Given the description of an element on the screen output the (x, y) to click on. 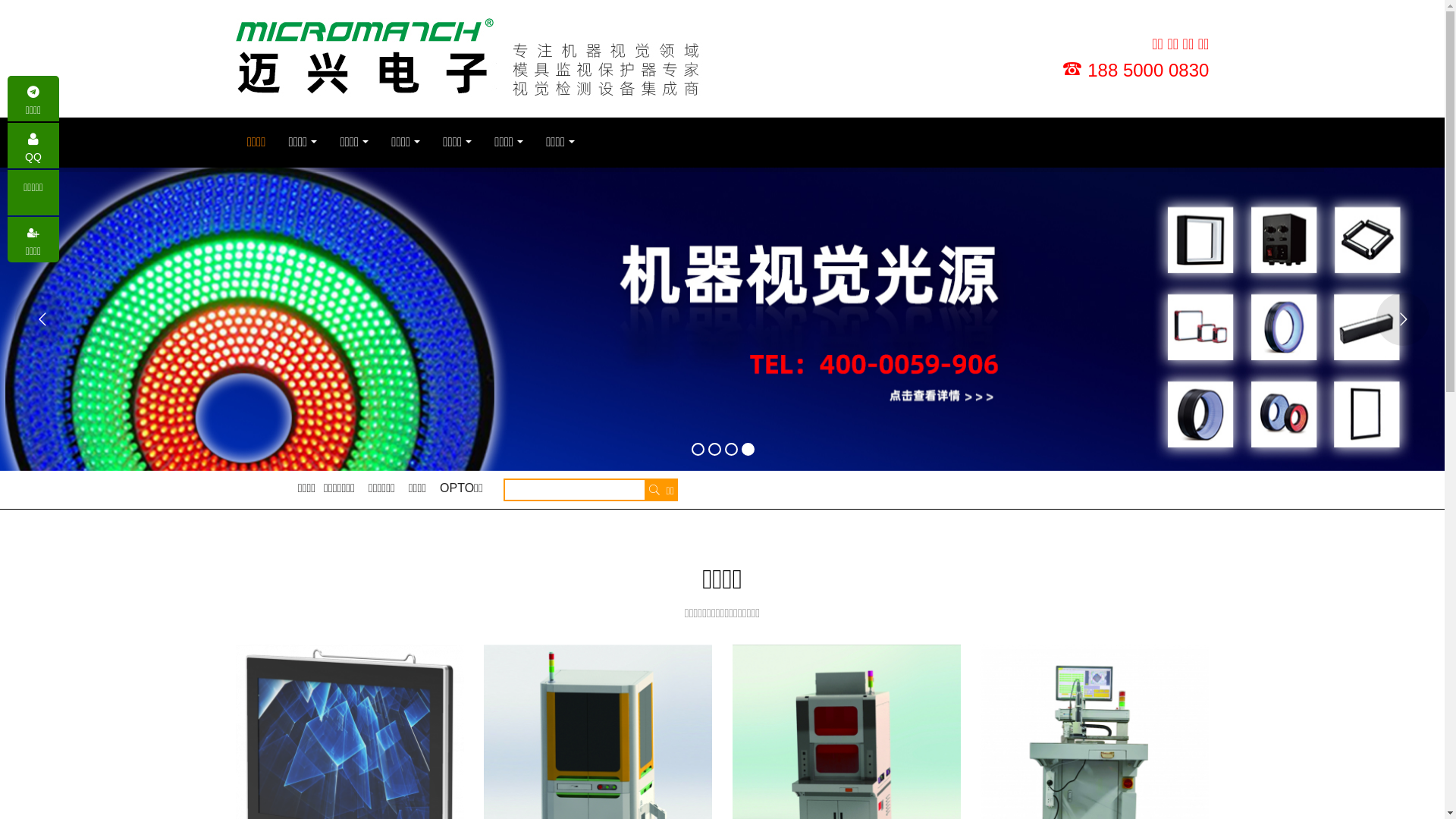
QQ Element type: text (33, 145)
